Given the description of an element on the screen output the (x, y) to click on. 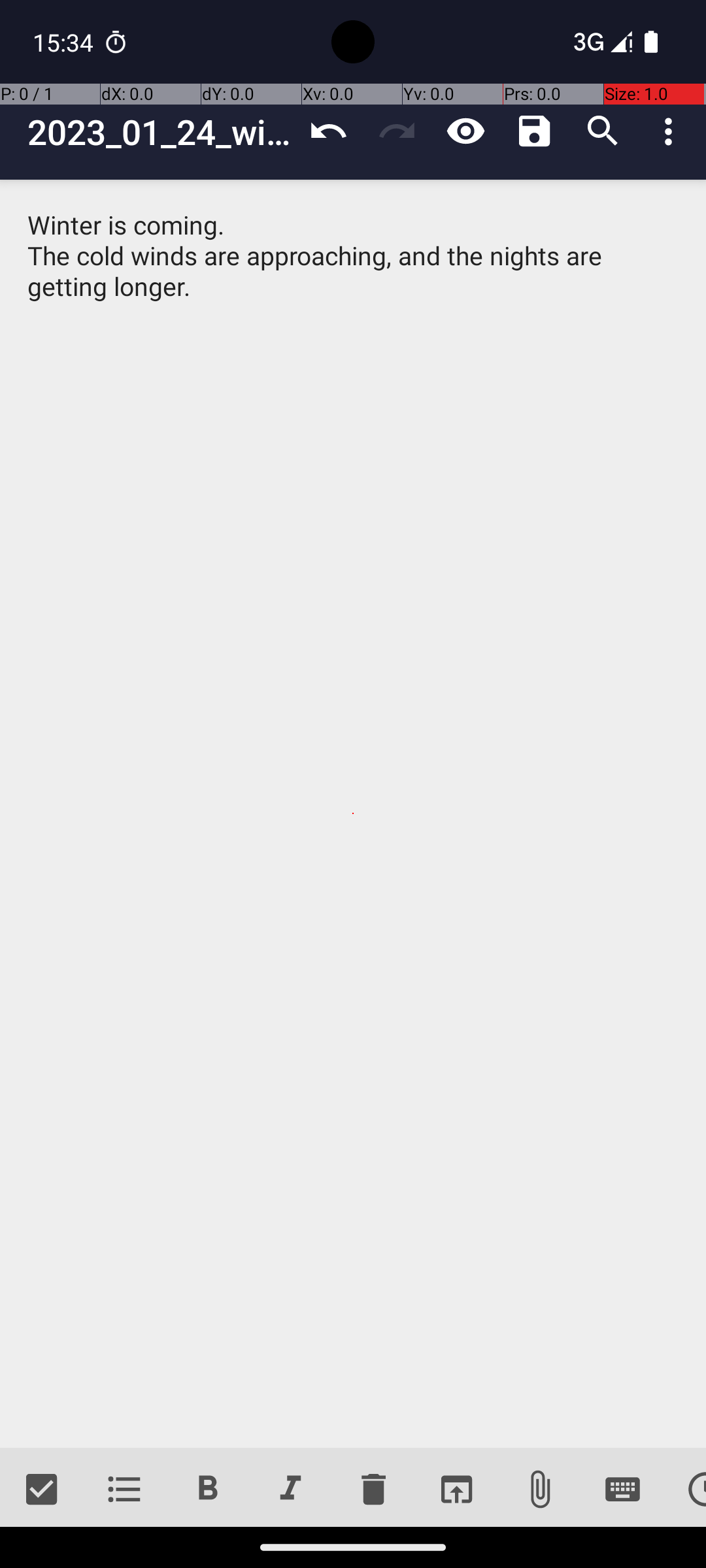
2023_01_24_wise_lamp Element type: android.widget.TextView (160, 131)
Winter is coming.
The cold winds are approaching, and the nights are getting longer.
 Element type: android.widget.EditText (353, 813)
